Given the description of an element on the screen output the (x, y) to click on. 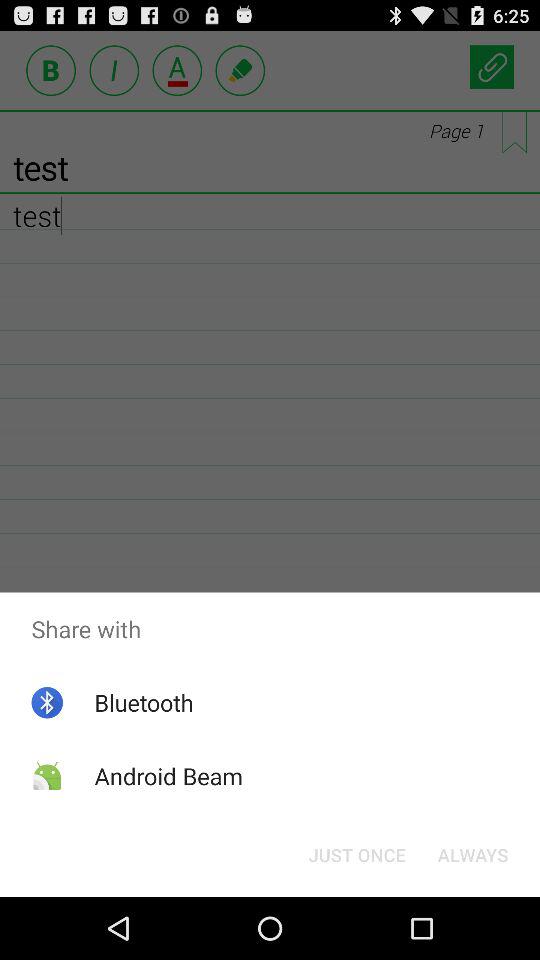
click the app below share with item (143, 702)
